Given the description of an element on the screen output the (x, y) to click on. 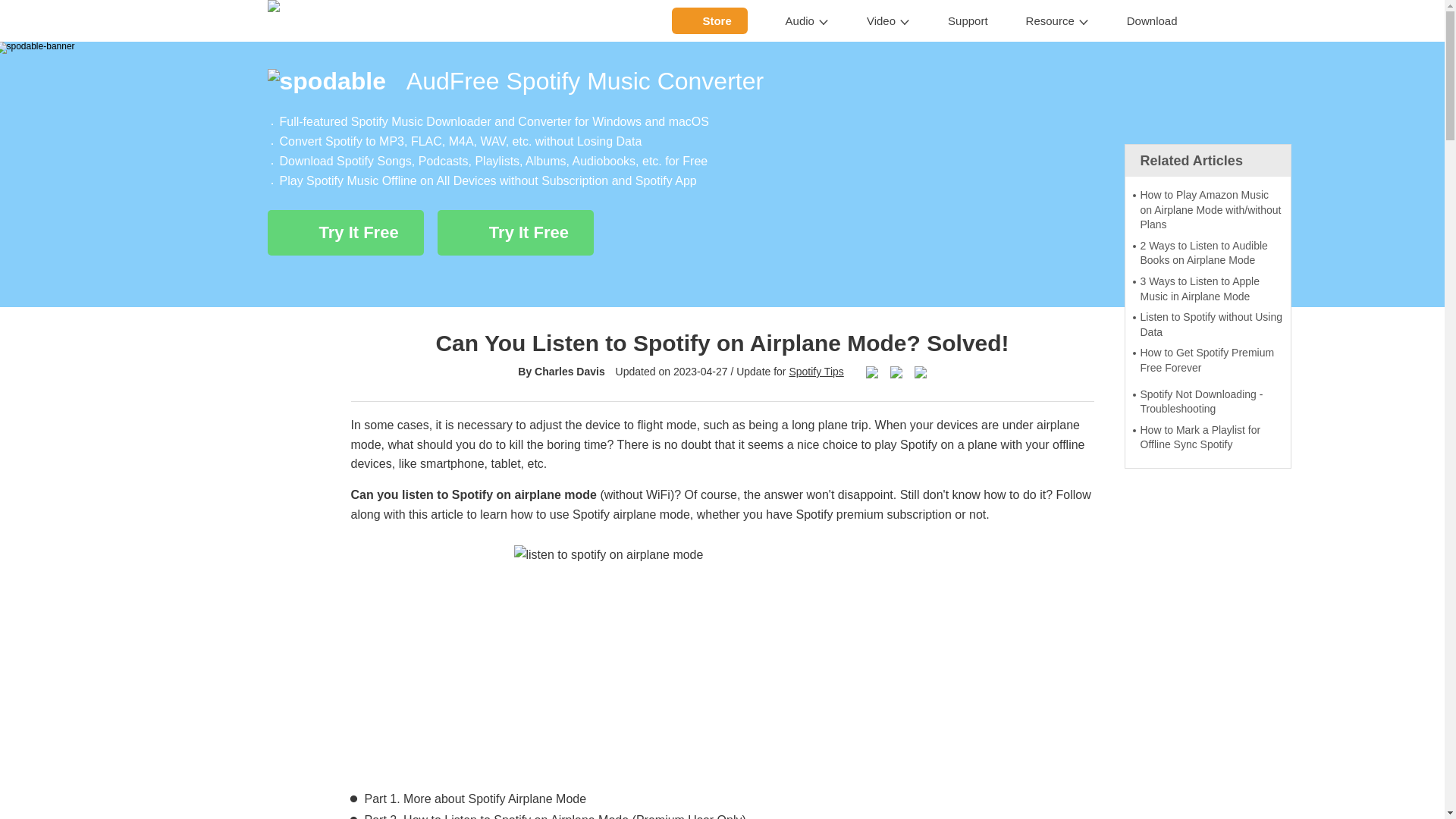
Video (887, 20)
Part 1. More about Spotify Airplane Mode (475, 798)
Try It Free (344, 232)
Support (967, 20)
Charles Davis (569, 371)
Audio (807, 20)
Download (1152, 20)
Store (709, 20)
Try It Free (516, 232)
AudFree Spotify Music Converter (721, 79)
